Given the description of an element on the screen output the (x, y) to click on. 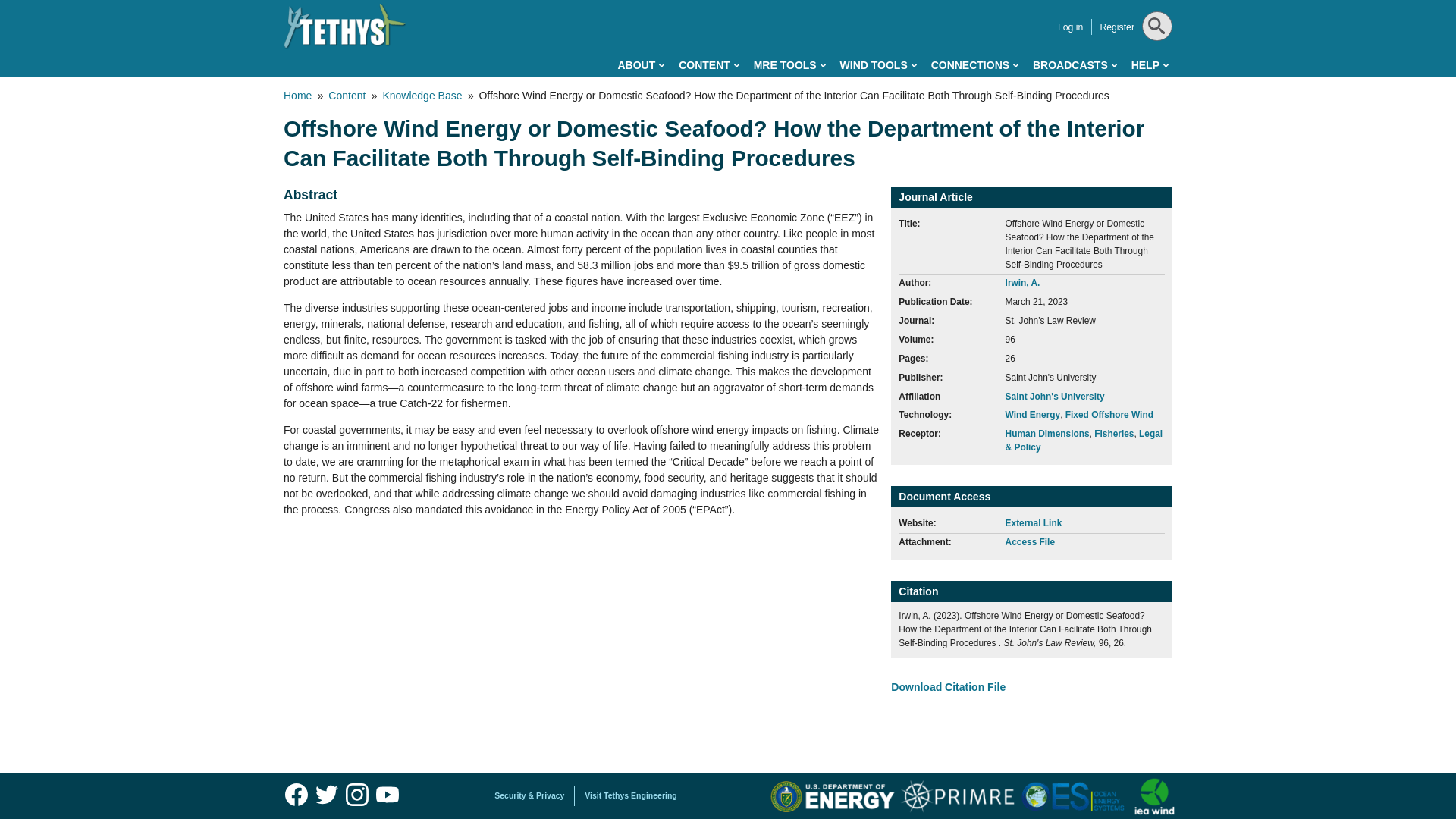
Search (1155, 64)
CONTENT (708, 65)
Search (1155, 64)
CONNECTIONS (974, 65)
Register (1116, 27)
ABOUT (640, 65)
Skip to main content (659, 3)
BROADCASTS (1074, 65)
MRE TOOLS (789, 65)
